Given the description of an element on the screen output the (x, y) to click on. 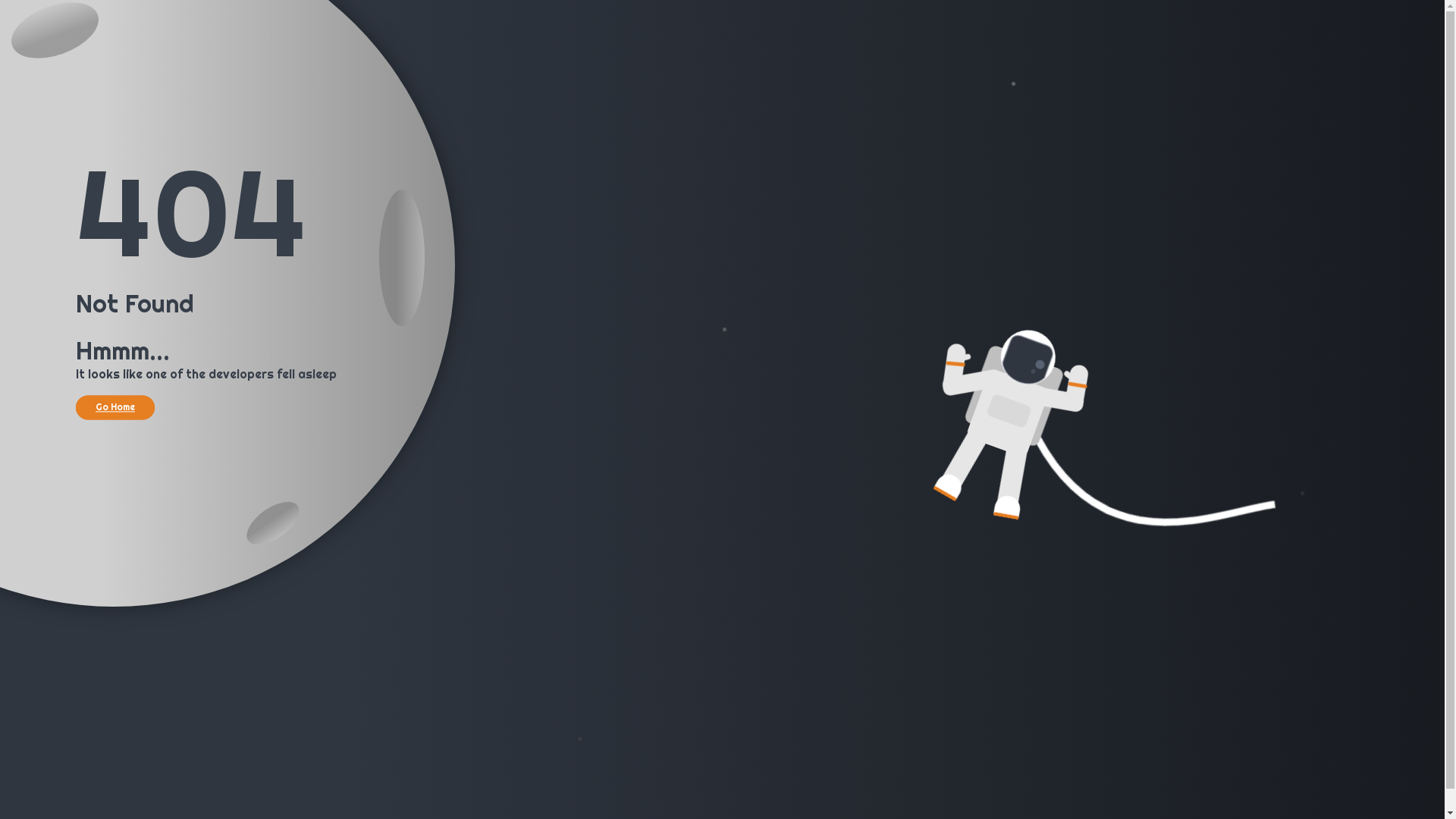
Go Home Element type: text (114, 407)
